Given the description of an element on the screen output the (x, y) to click on. 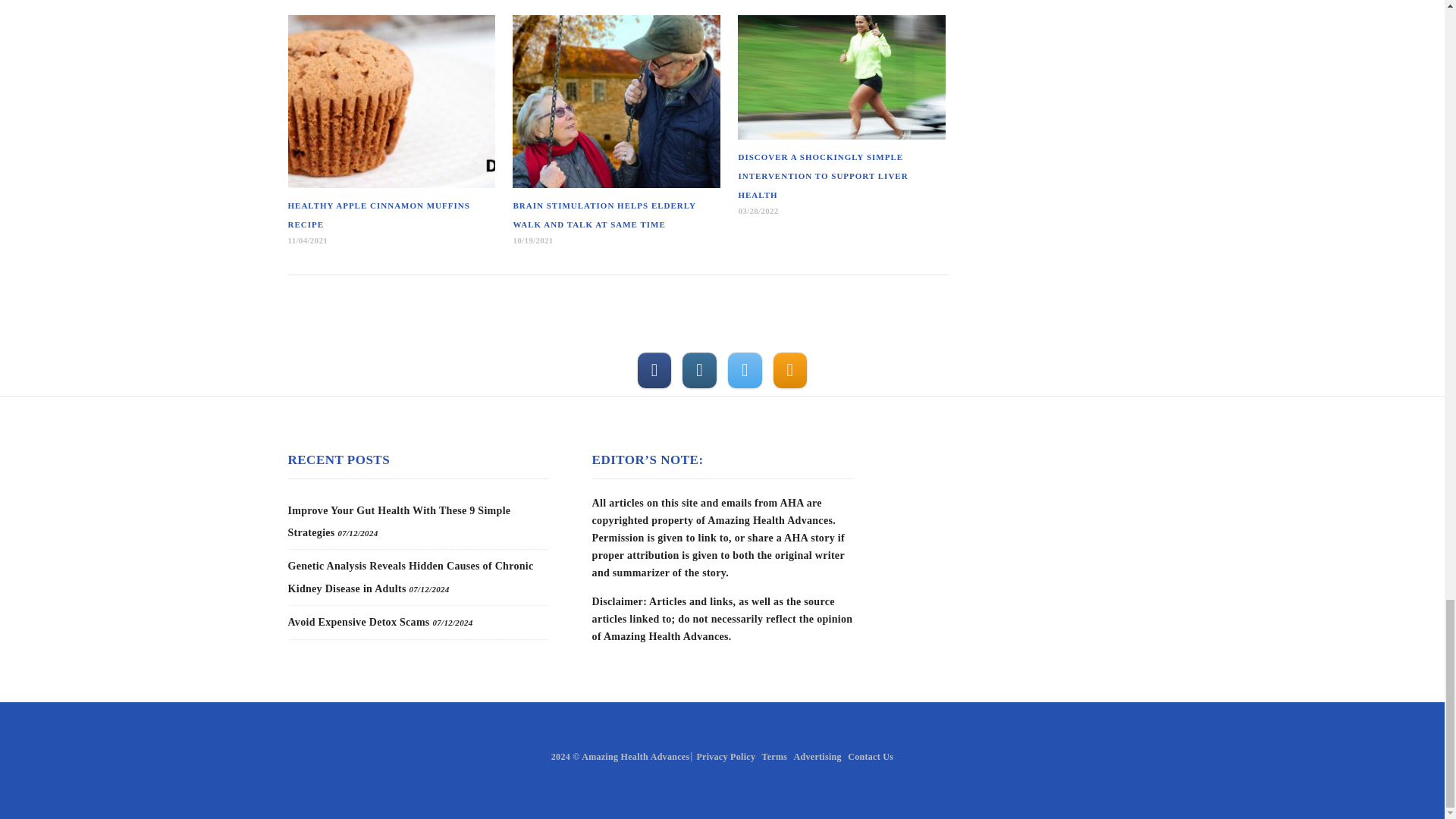
Amazing Health Advances on Facebook (654, 370)
Amazing Health Advances on Instagram (698, 370)
Amazing Health Advances on Rss (790, 370)
Amazing Health Advances on X Twitter (743, 370)
